Given the description of an element on the screen output the (x, y) to click on. 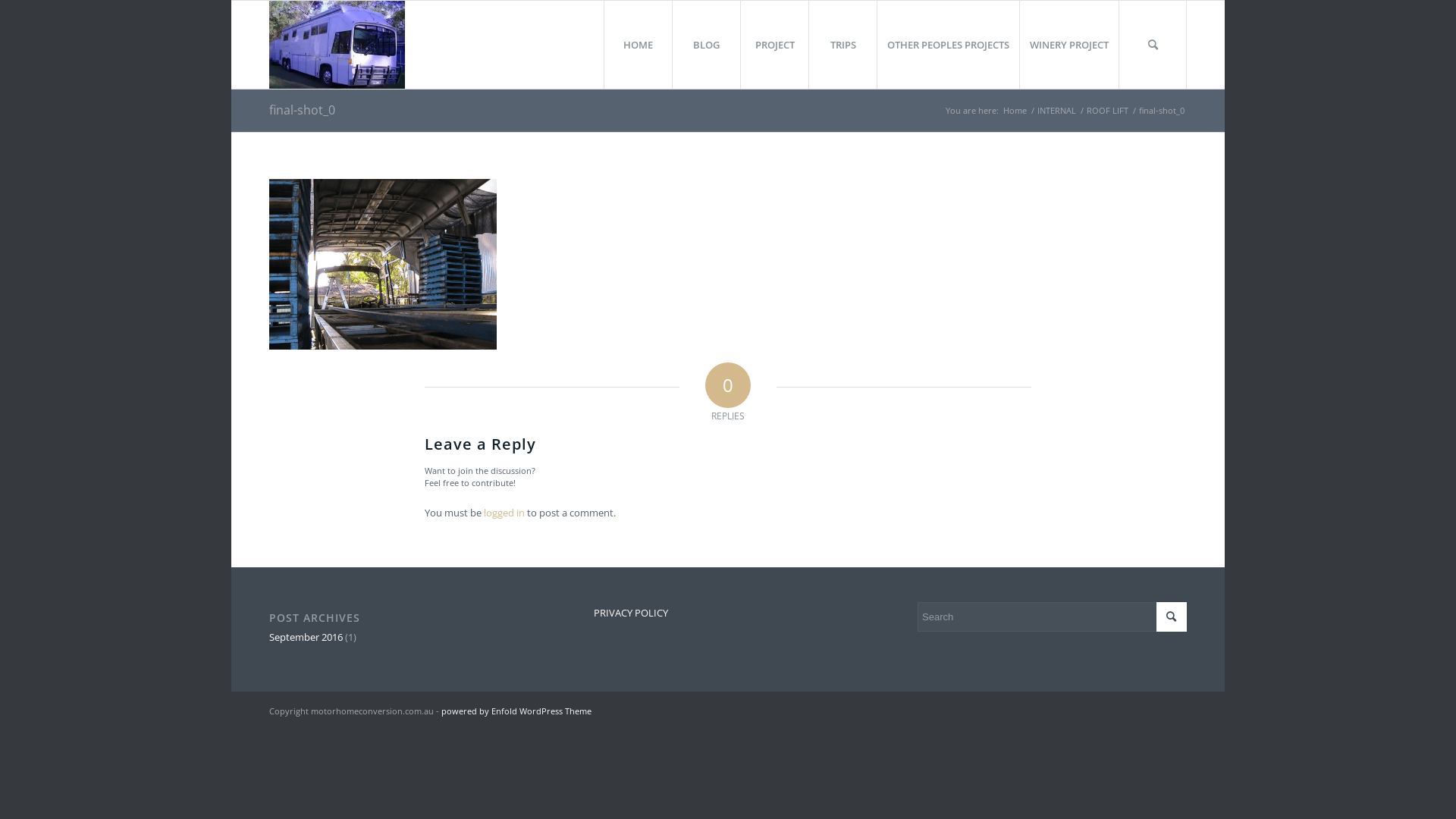
PRIVACY POLICY Element type: text (727, 613)
ROOF LIFT Element type: text (1107, 110)
INTERNAL Element type: text (1056, 110)
WINERY PROJECT Element type: text (1068, 44)
final-shot_0 Element type: text (302, 109)
powered by Enfold WordPress Theme Element type: text (516, 710)
BLOG Element type: text (705, 44)
Home Element type: text (1015, 110)
logged in Element type: text (503, 512)
September 2016 Element type: text (305, 636)
OTHER PEOPLES PROJECTS Element type: text (947, 44)
HOME Element type: text (637, 44)
TRIPS Element type: text (842, 44)
PROJECT Element type: text (774, 44)
